Given the description of an element on the screen output the (x, y) to click on. 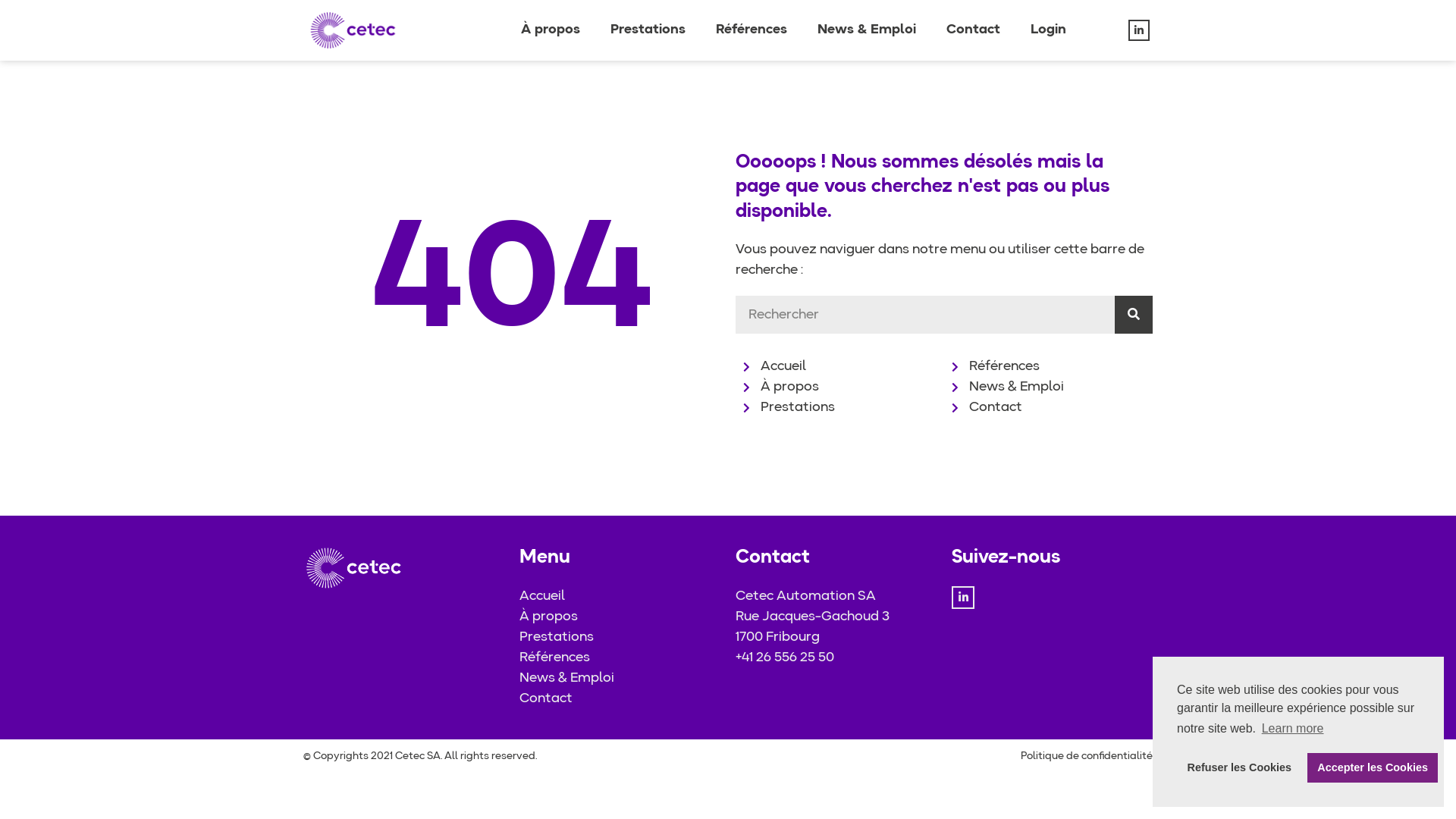
Contact Element type: text (973, 29)
Contact Element type: text (1048, 407)
Accueil Element type: text (839, 366)
Accepter les Cookies Element type: text (1372, 767)
Rue Jacques-Gachoud 3 Element type: text (835, 616)
Prestations Element type: text (647, 29)
News & Emploi Element type: text (866, 29)
Refuser les Cookies Element type: text (1239, 767)
Contact Element type: text (619, 698)
Prestations Element type: text (619, 636)
Cetec Automation SA Element type: text (835, 595)
News & Emploi Element type: text (619, 677)
1700 Fribourg Element type: text (835, 636)
Login Element type: text (1048, 29)
News & Emploi Element type: text (1048, 386)
Accueil Element type: text (619, 595)
Prestations Element type: text (839, 407)
+41 26 556 25 50 Element type: text (835, 657)
Learn more Element type: text (1291, 728)
